Given the description of an element on the screen output the (x, y) to click on. 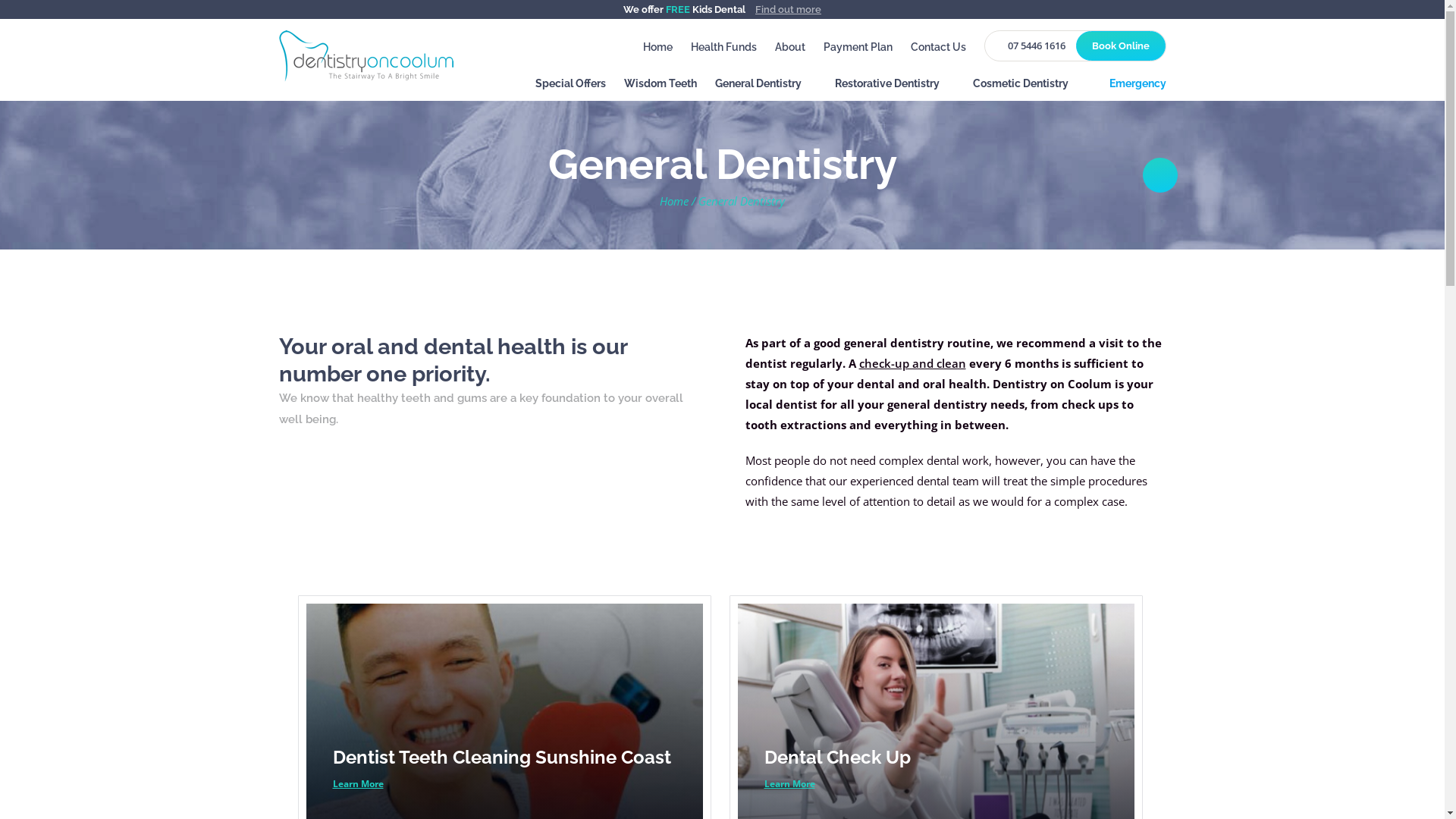
Home Element type: text (673, 200)
Emergency Element type: text (1133, 87)
Health Funds Element type: text (723, 47)
Payment Plan Element type: text (857, 47)
check-up and clean Element type: text (911, 362)
Learn More Element type: text (789, 783)
07 5446 1616 Element type: text (1031, 45)
General Dentistry Element type: text (764, 87)
Contact Us Element type: text (937, 47)
About Element type: text (790, 47)
Restorative Dentistry Element type: text (893, 87)
Find out more Element type: text (788, 9)
Search Element type: text (1108, 27)
Book Online Element type: text (1119, 45)
Wisdom Teeth Element type: text (659, 87)
Learn More Element type: text (357, 783)
Special Offers Element type: text (570, 87)
Cosmetic Dentistry Element type: text (1027, 87)
Home Element type: text (657, 47)
Dentistry on Coolum Element type: hover (366, 54)
